Given the description of an element on the screen output the (x, y) to click on. 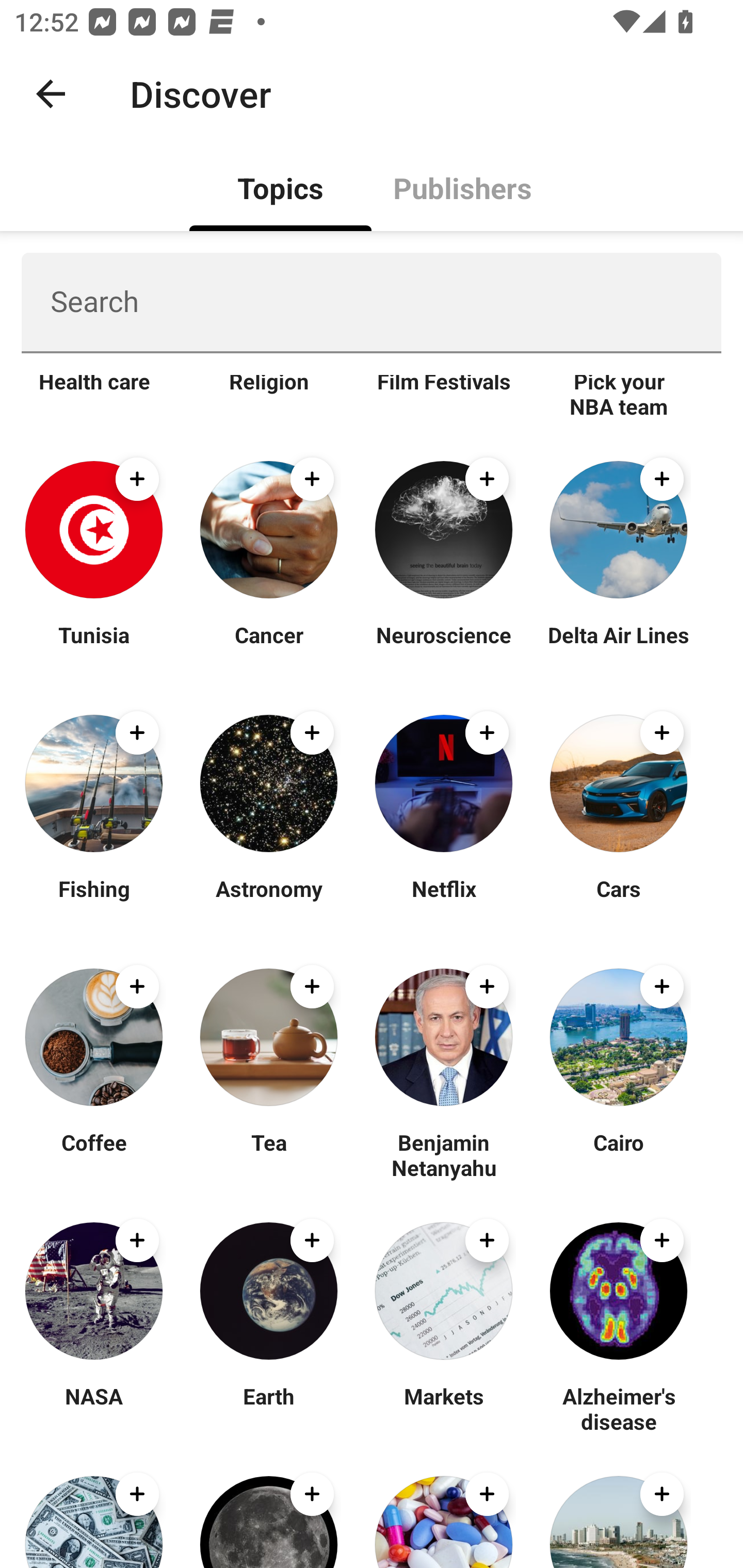
Publishers (462, 187)
Search (371, 302)
Tunisia (93, 646)
Cancer (268, 646)
Neuroscience (443, 646)
Delta Air Lines (618, 646)
Fishing (93, 900)
Astronomy (268, 900)
Netflix (443, 900)
Cars (618, 900)
Coffee (93, 1154)
Tea (268, 1154)
Benjamin Netanyahu (443, 1154)
Cairo (618, 1154)
NASA (93, 1408)
Earth (268, 1408)
Markets (443, 1408)
Alzheimer's disease (618, 1408)
